Given the description of an element on the screen output the (x, y) to click on. 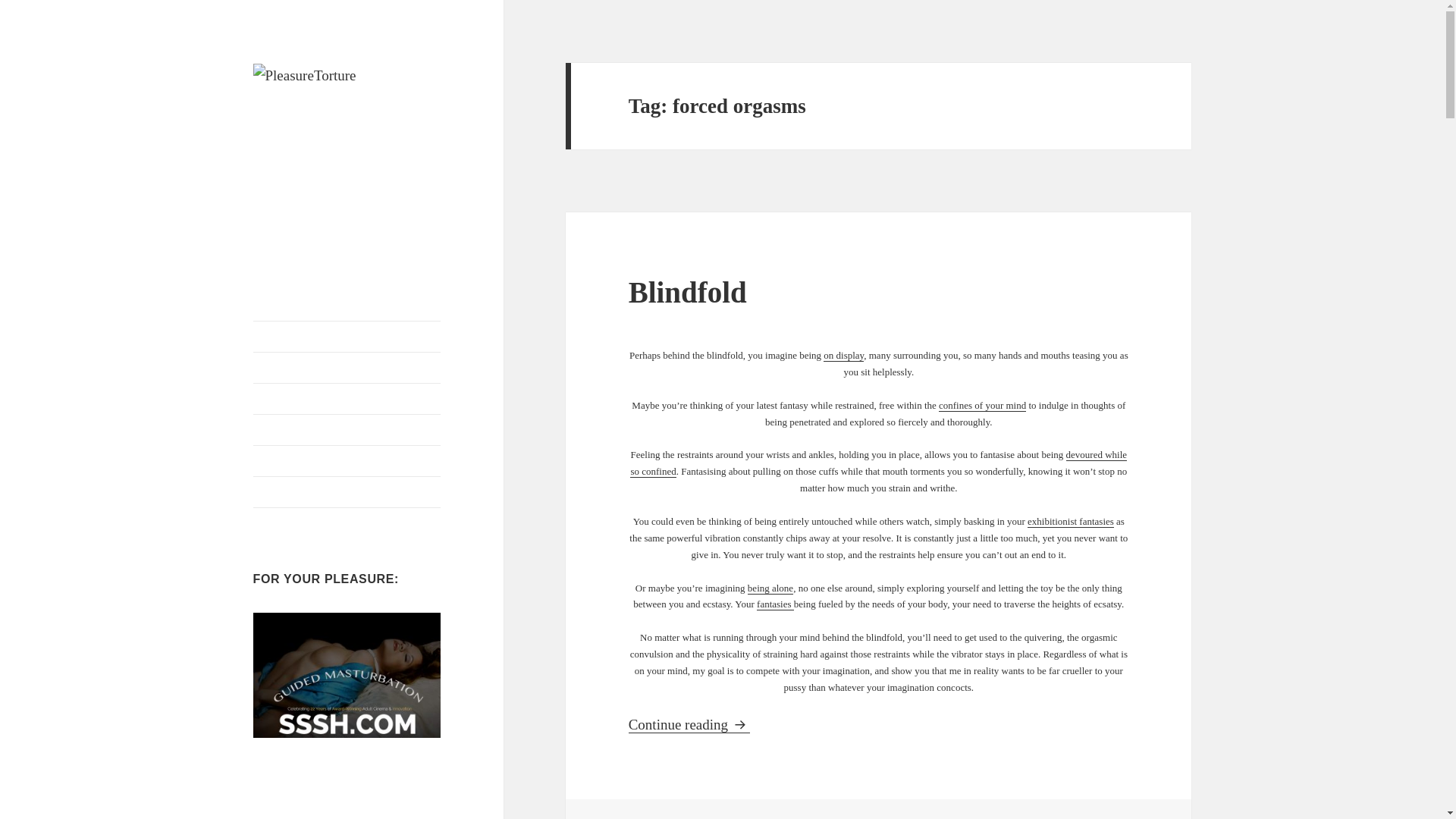
fantasies (775, 604)
Blindfold (687, 292)
confines of your mind (982, 405)
on display (688, 724)
devoured while so confined (843, 355)
exhibitionist fantasies (878, 462)
Frequently Asked Questions (1070, 521)
PleasureTorture (347, 399)
Ask Me Anything (331, 111)
Home (347, 429)
being alone (347, 336)
Contact (770, 588)
About PleasureTorture (347, 491)
Categories (347, 367)
